Given the description of an element on the screen output the (x, y) to click on. 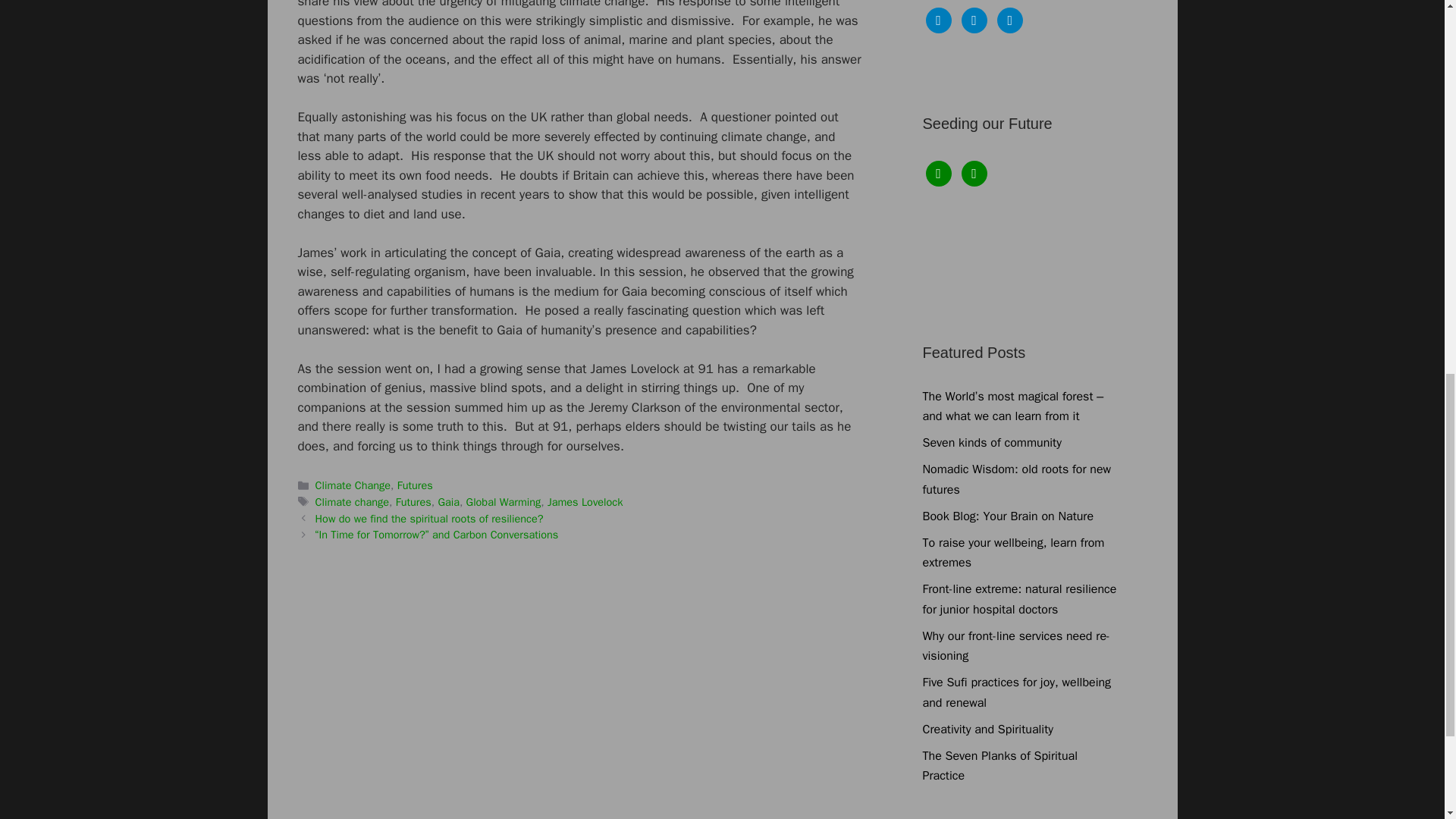
facebook (937, 172)
facebook (937, 19)
Seven kinds of community (991, 442)
Gaia (449, 501)
Climate Change (352, 485)
Facebook (937, 172)
Twitter (973, 172)
twitter (973, 172)
Facebook (937, 19)
Climate change (351, 501)
Default Label (1010, 19)
Futures (413, 501)
Twitter (973, 19)
youtube (1010, 19)
Nomadic Wisdom: old roots for new futures (1015, 479)
